Given the description of an element on the screen output the (x, y) to click on. 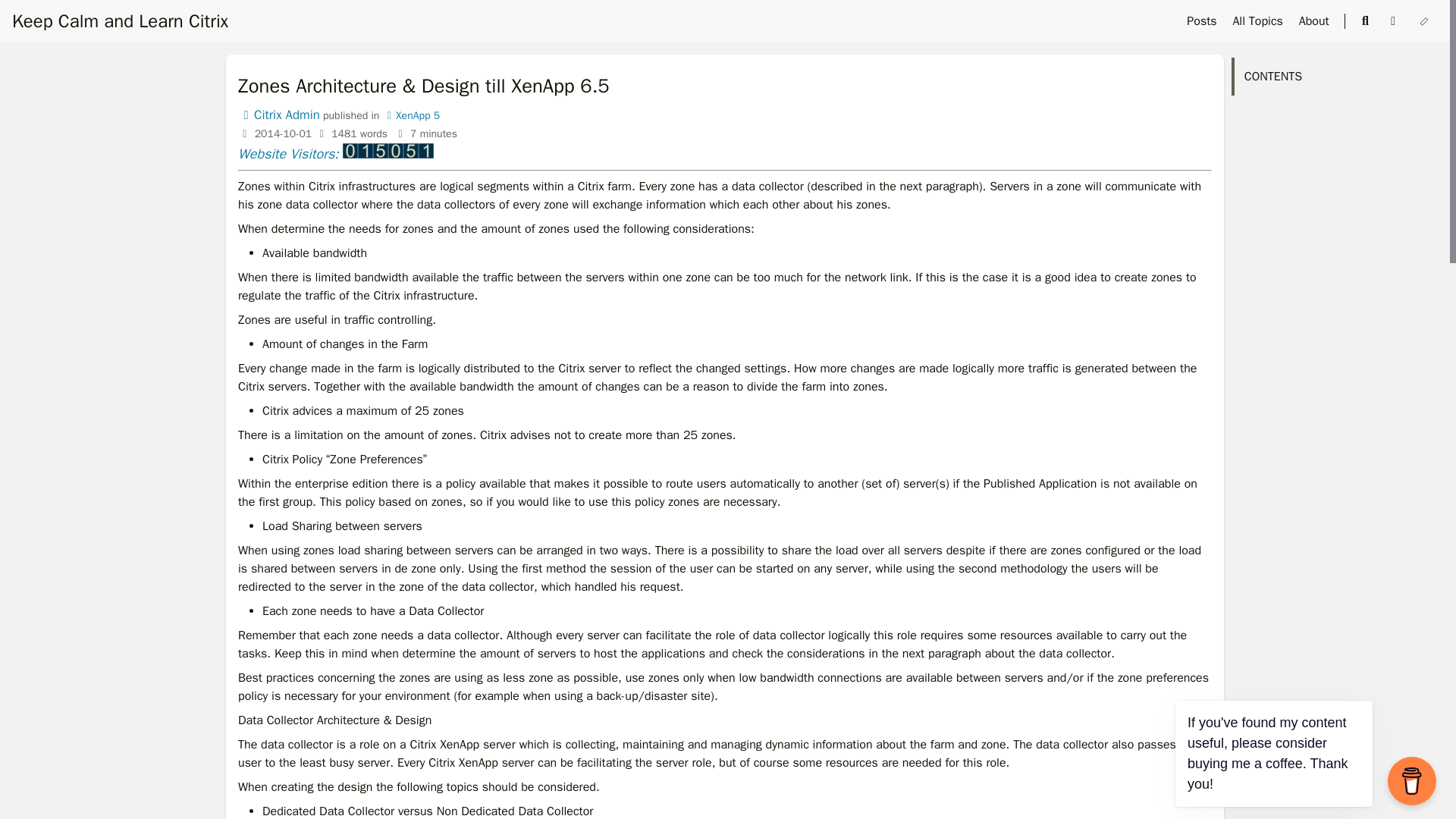
Citrix Admin (279, 114)
Learn about Citrix products and Automation (119, 20)
RSS (1395, 20)
RSS (1393, 21)
XenApp 5 (411, 115)
About (1315, 20)
All Topics (1258, 20)
Posts (1203, 20)
Switch Theme (1423, 20)
Author (279, 114)
